Given the description of an element on the screen output the (x, y) to click on. 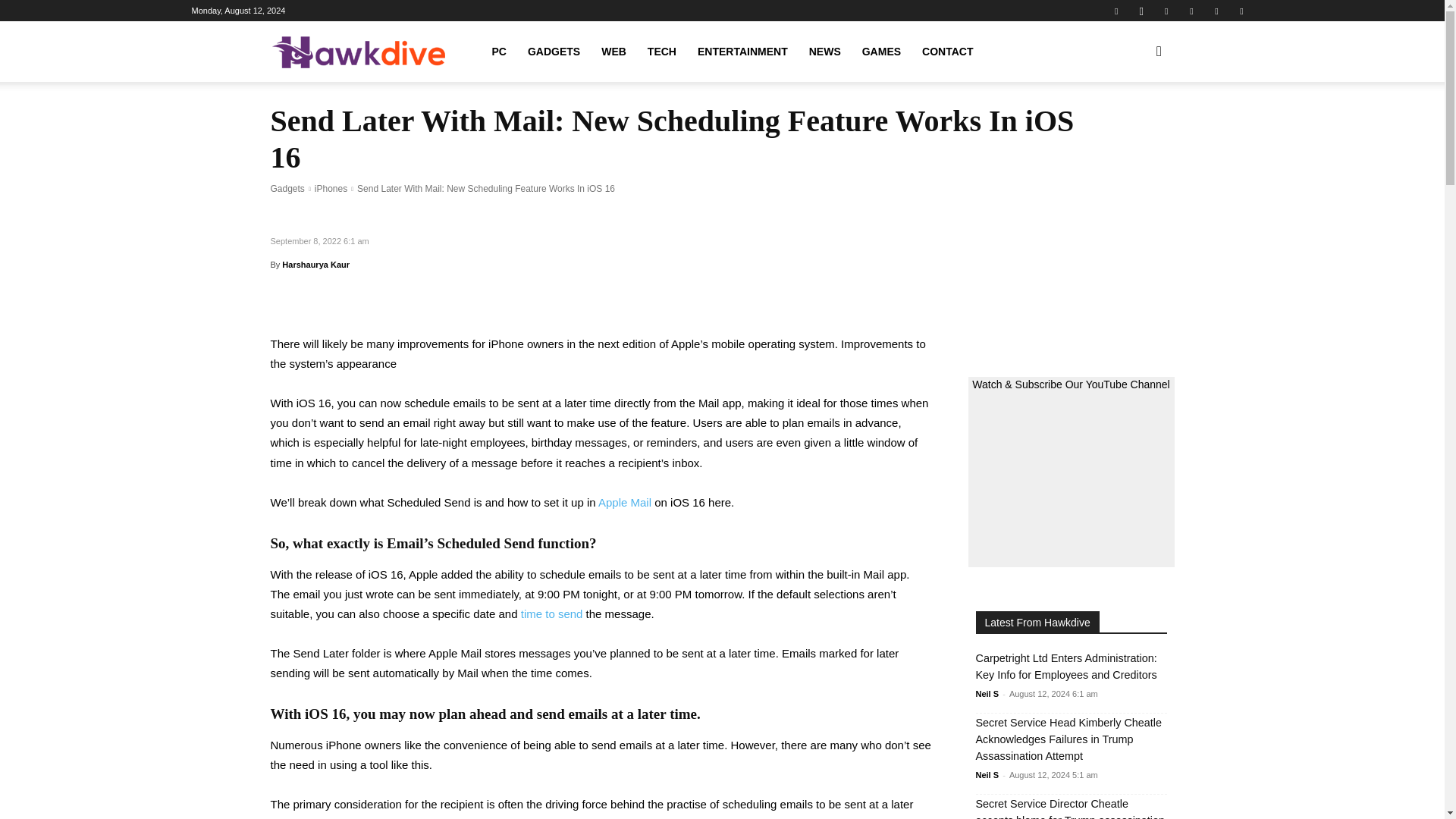
Instagram (1141, 10)
Youtube (1241, 10)
Pinterest (1165, 10)
Twitter (1216, 10)
Facebook (1115, 10)
Telegram (1190, 10)
